Given the description of an element on the screen output the (x, y) to click on. 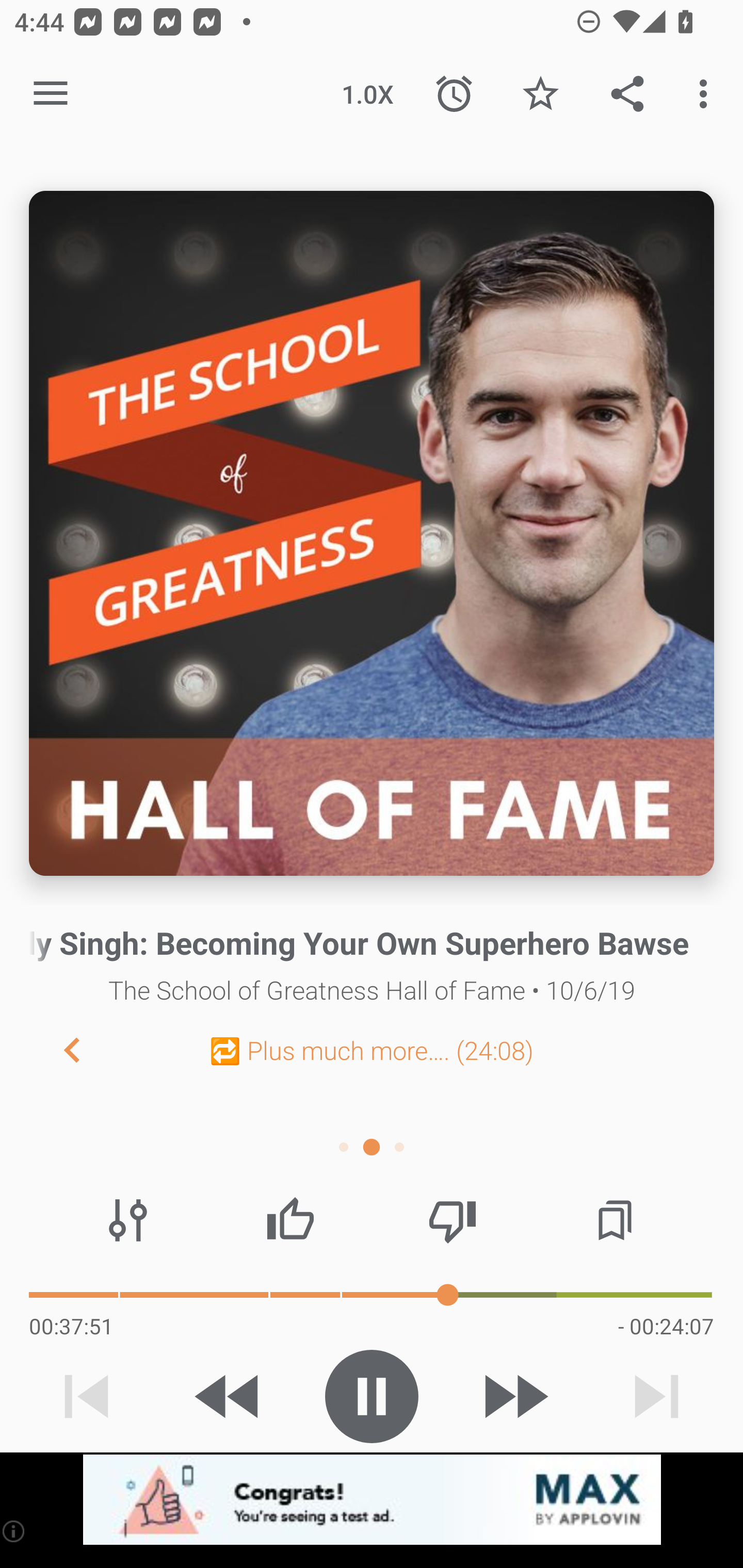
Open navigation sidebar (50, 93)
1.0X (366, 93)
Sleep Timer (453, 93)
Favorite (540, 93)
Share (626, 93)
More options (706, 93)
Episode description (371, 533)
Previous Chapter (56, 1049)
🔁 Plus much more…. (24:08) (371, 1050)
Audio effects (127, 1220)
Thumbs up (290, 1220)
Thumbs down (452, 1220)
Chapters / Bookmarks (614, 1220)
- 00:24:07 (666, 1325)
Previous track (86, 1395)
Skip 15s backward (228, 1395)
Play / Pause (371, 1395)
Skip 30s forward (513, 1395)
Next track (656, 1395)
app-monetization (371, 1500)
(i) (14, 1531)
